Given the description of an element on the screen output the (x, y) to click on. 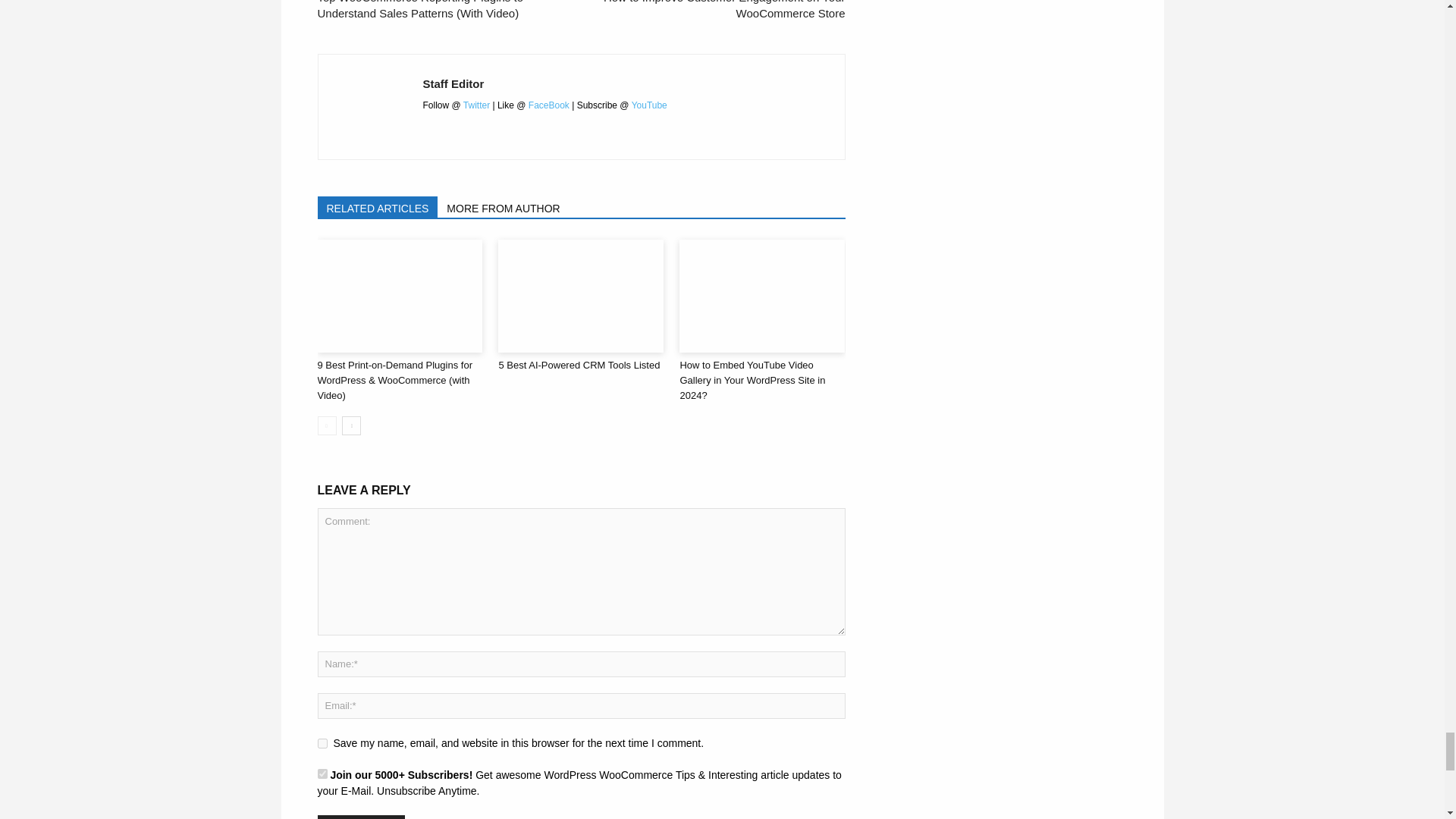
Post Comment (360, 816)
yes (321, 743)
1 (321, 773)
